Given the description of an element on the screen output the (x, y) to click on. 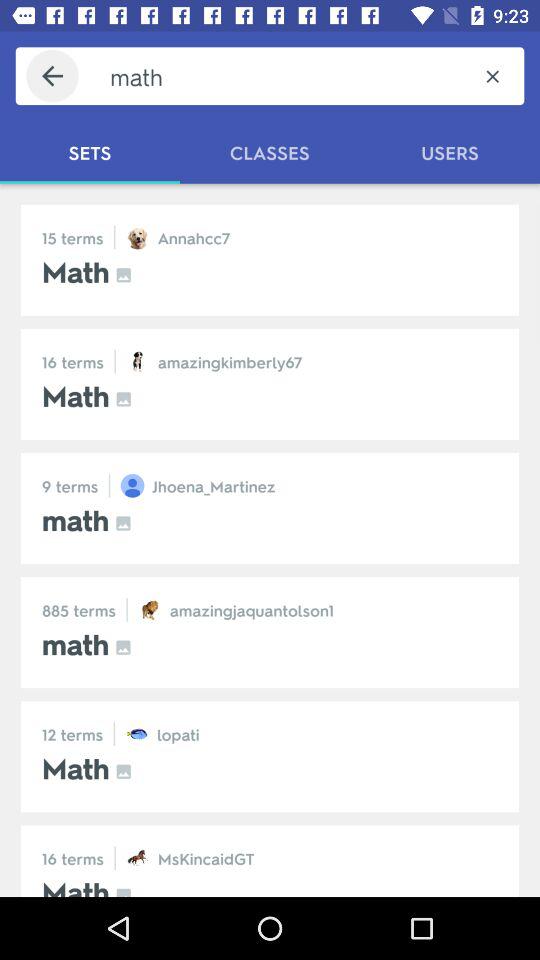
press item next to math icon (492, 75)
